Given the description of an element on the screen output the (x, y) to click on. 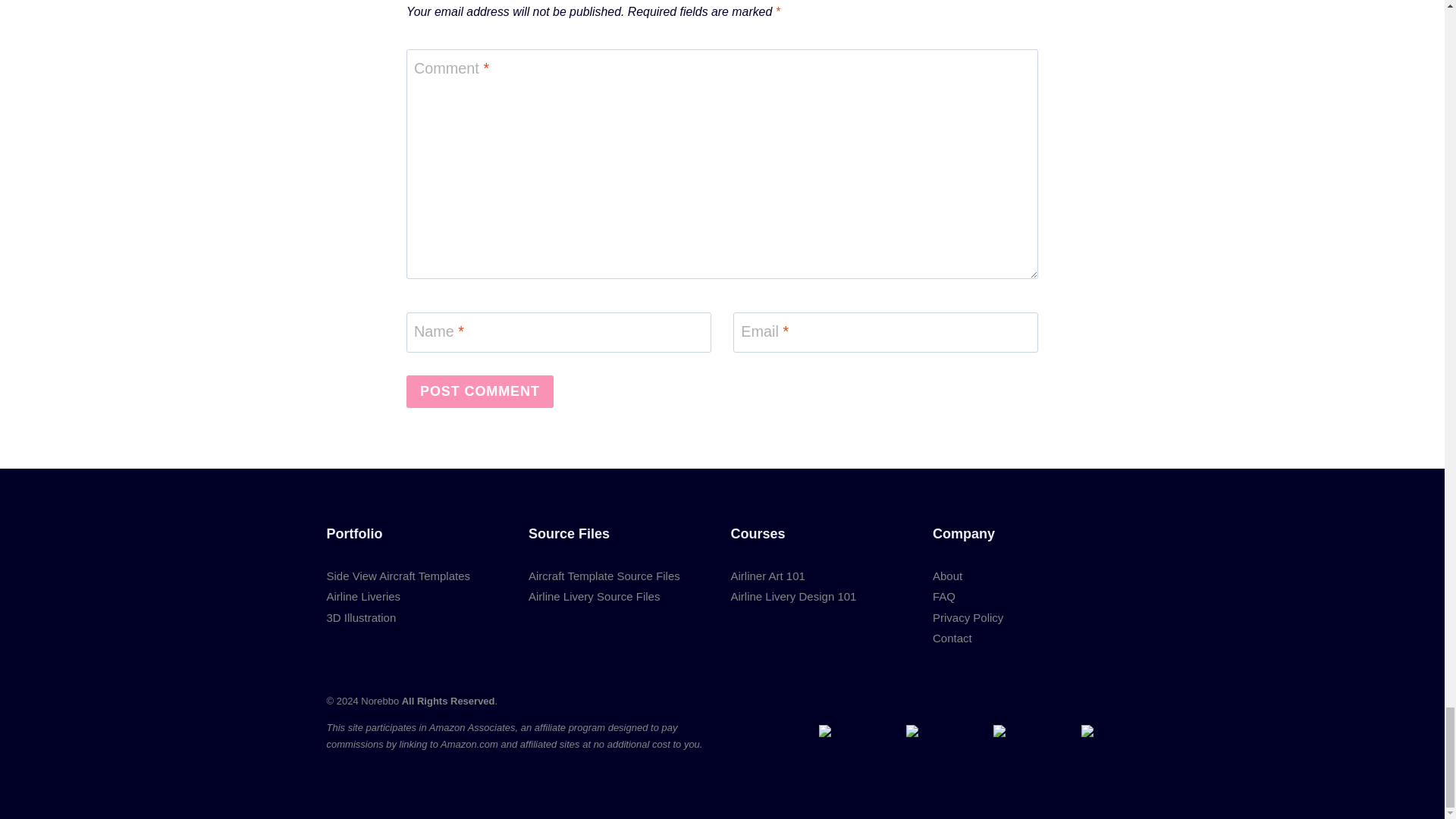
Post Comment (479, 391)
